Given the description of an element on the screen output the (x, y) to click on. 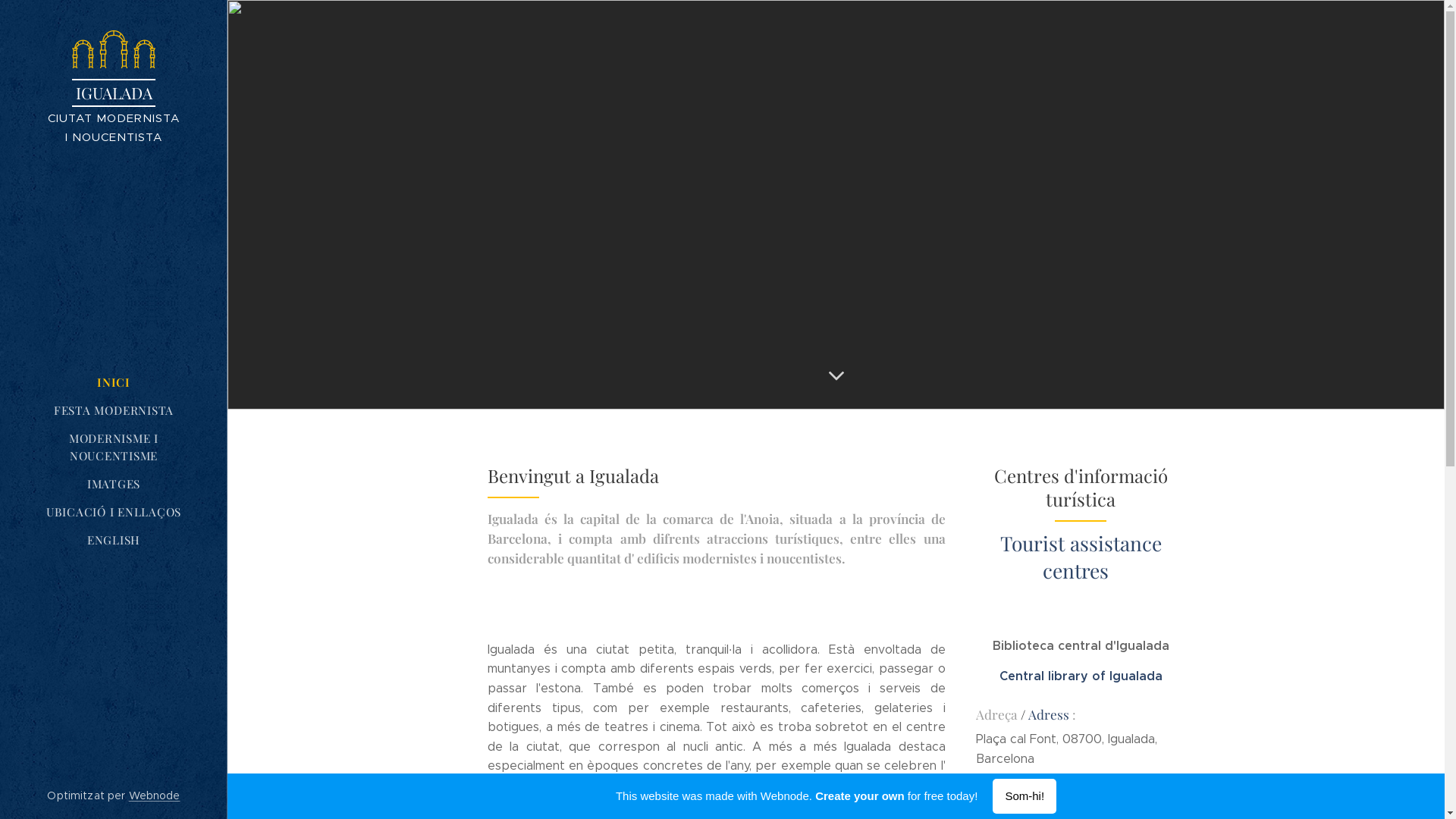
ENGLISH Element type: text (113, 540)
IMATGES Element type: text (113, 483)
INICI Element type: text (113, 382)
FESTA MODERNISTA Element type: text (113, 410)
MODERNISME I NOUCENTISME Element type: text (113, 446)
Webnode Element type: text (154, 795)
